Given the description of an element on the screen output the (x, y) to click on. 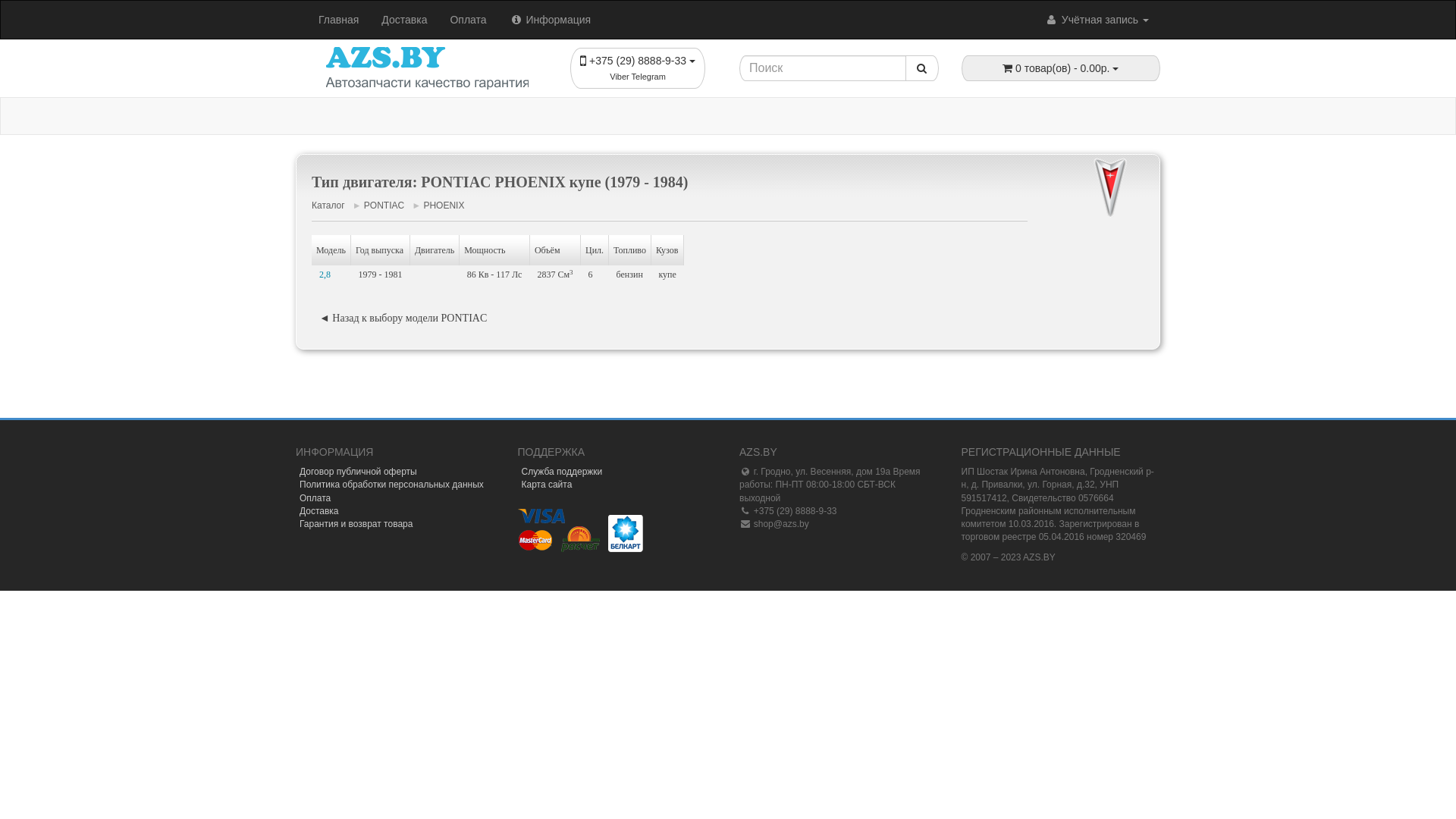
PONTI Element type: hover (1110, 188)
  Element type: text (1152, 375)
AZS.BY Element type: hover (427, 68)
3001 Element type: hover (1152, 375)
+375 (29) 8888-9-33
Viber Telegram Element type: text (637, 67)
PHOENIX Element type: text (443, 205)
2,8 Element type: text (330, 274)
PONTIAC Element type: text (384, 205)
